Given the description of an element on the screen output the (x, y) to click on. 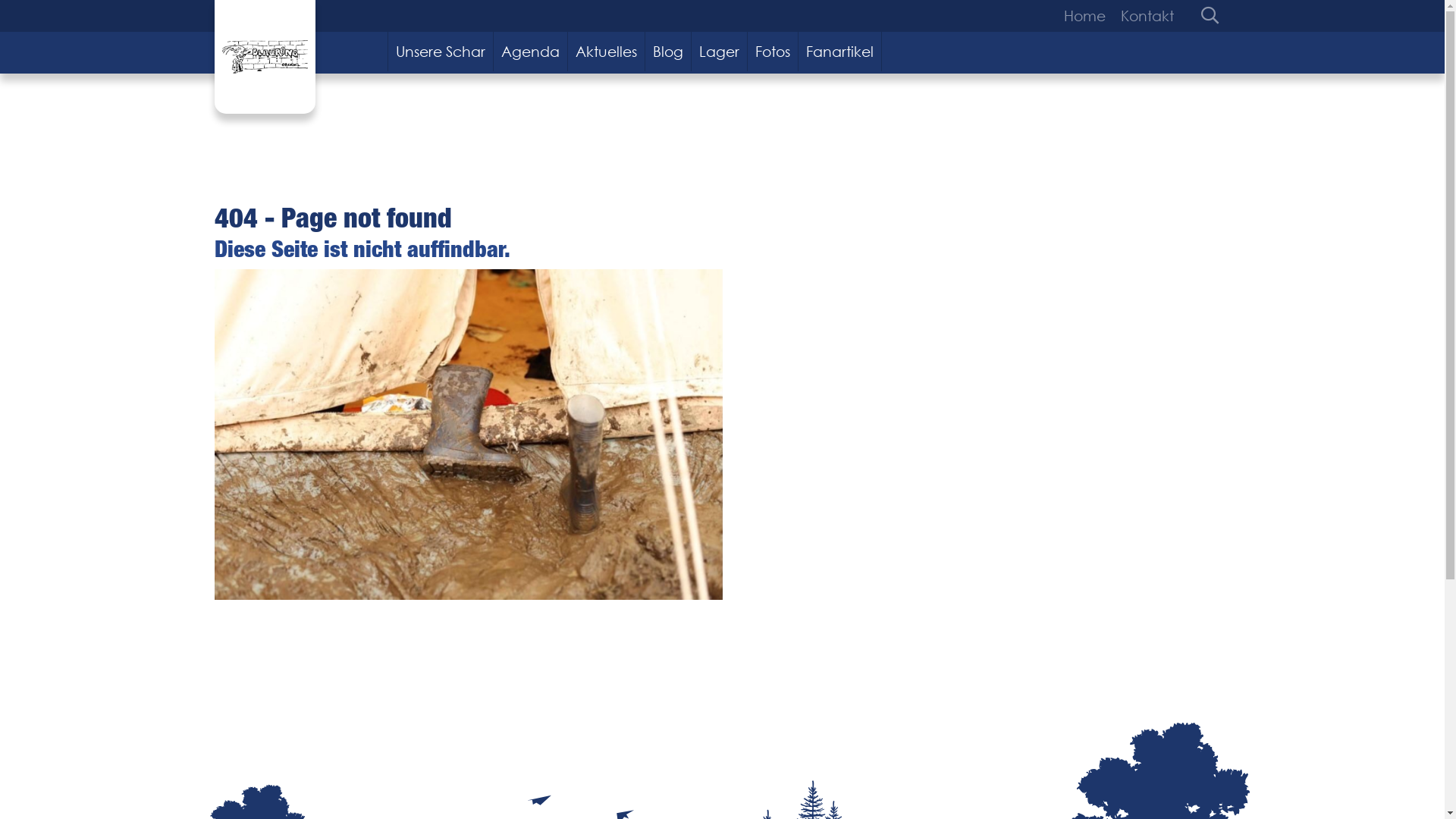
Blauring Oberwil Element type: hover (264, 56)
Lager Element type: text (719, 51)
Blog Element type: text (668, 51)
Fotos Element type: text (772, 51)
Fanartikel Element type: text (839, 51)
Home Element type: text (1087, 15)
Kontakt Element type: text (1143, 15)
Agenda Element type: text (530, 51)
Unsere Schar Element type: text (440, 51)
404 - Page not found Element type: hover (467, 434)
Aktuelles Element type: text (606, 51)
